Given the description of an element on the screen output the (x, y) to click on. 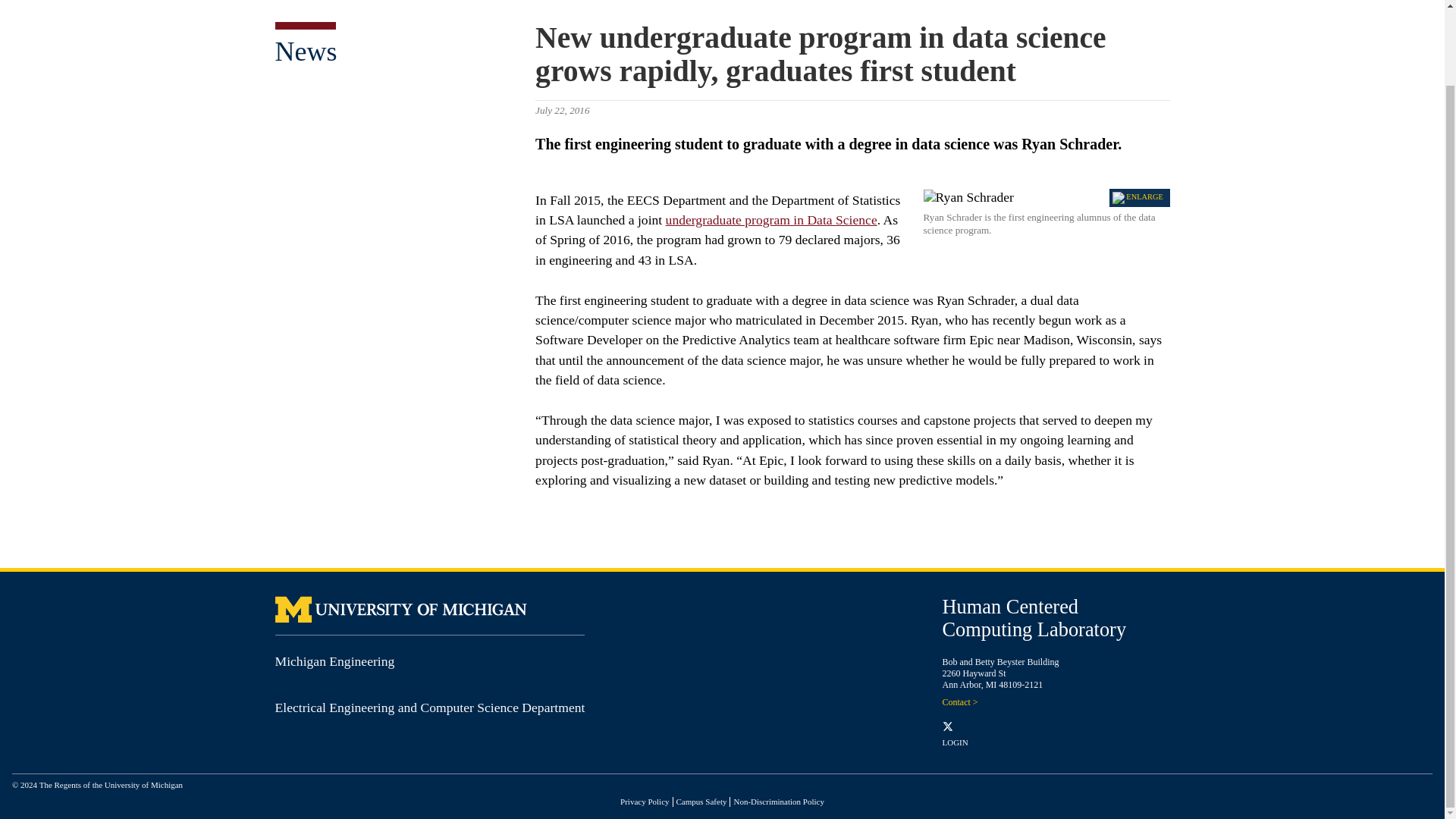
News (305, 51)
Electrical Engineering and Computer Science Department (430, 707)
LOGIN (955, 741)
undergraduate program in Data Science (771, 219)
Non-Discrimination Policy (778, 800)
The Regents of the University of Michigan (111, 784)
Human Centered Computing Laboratory (1033, 617)
Privacy Policy (644, 800)
Campus Safety (701, 800)
Michigan Engineering (334, 661)
